Given the description of an element on the screen output the (x, y) to click on. 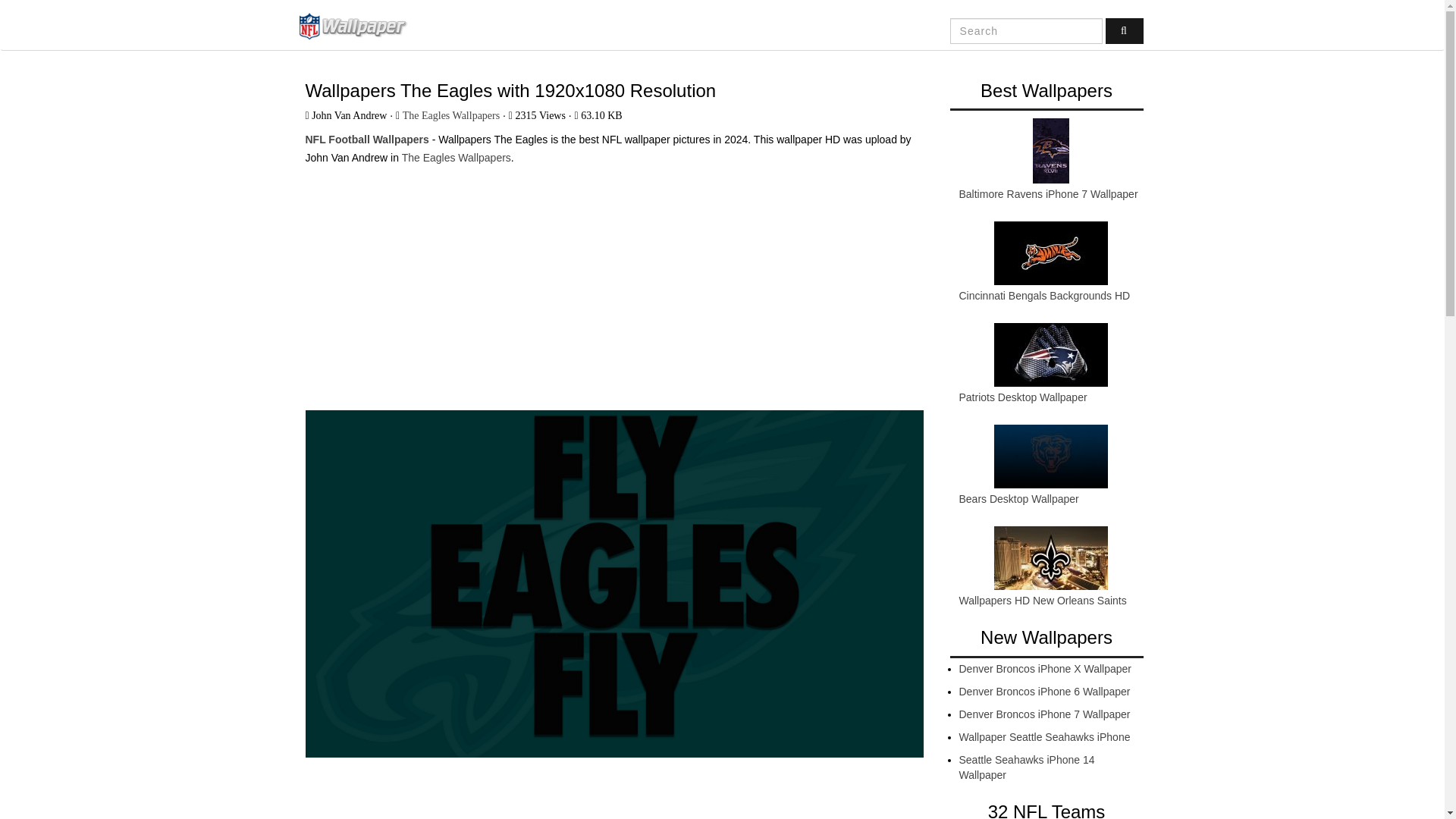
NFL Football Wallpapers (359, 26)
NFL Football Wallpapers (366, 139)
The Eagles Wallpapers (451, 115)
Advertisement (613, 281)
Advertisement (613, 799)
The Eagles Wallpapers (456, 157)
Search for: (1026, 31)
